Given the description of an element on the screen output the (x, y) to click on. 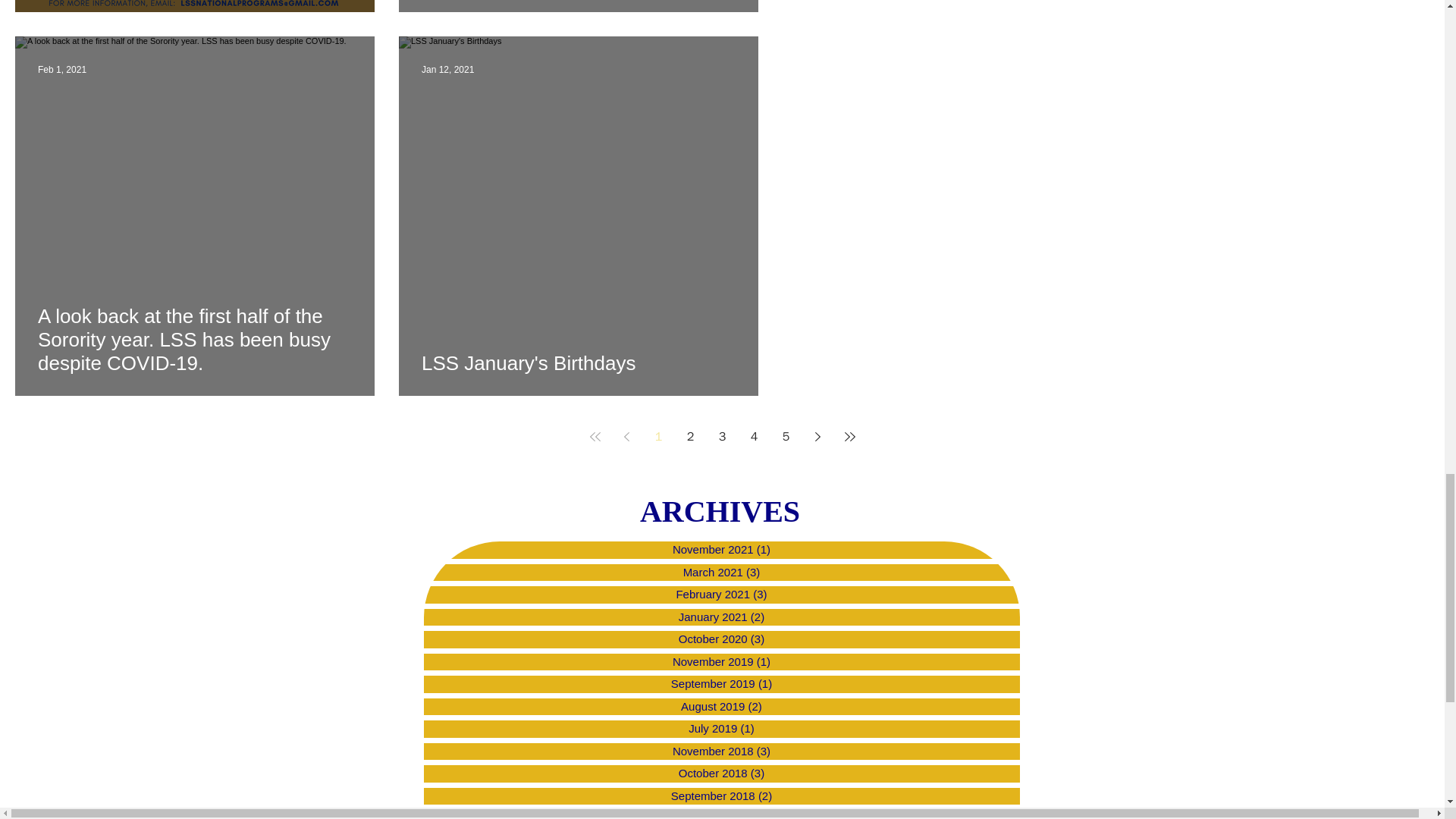
LSS January's Birthdays (578, 363)
Jan 12, 2021 (448, 69)
3 (721, 436)
4 (753, 436)
5 (785, 436)
2 (690, 436)
Feb 1, 2021 (61, 69)
